Given the description of an element on the screen output the (x, y) to click on. 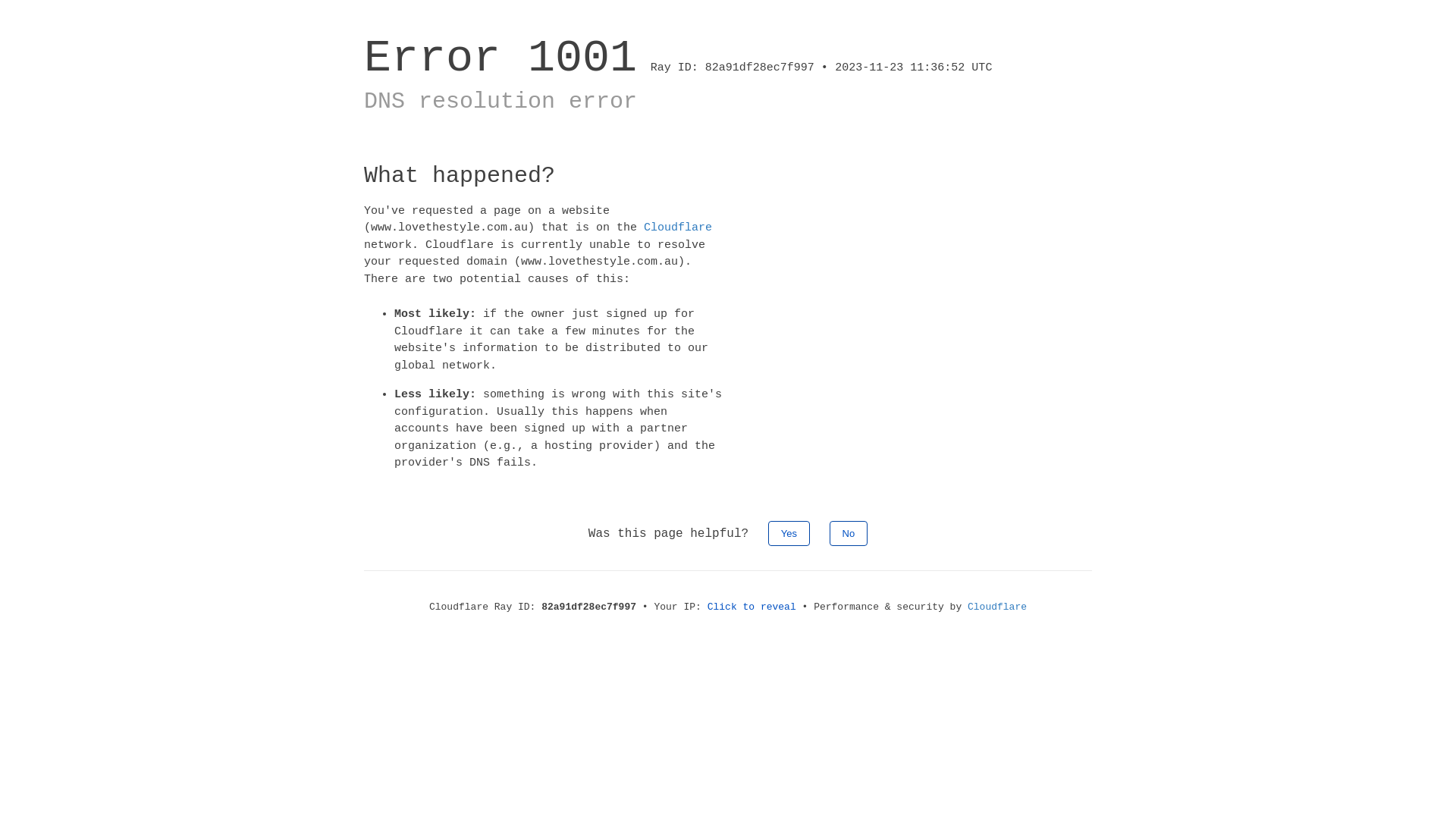
Cloudflare Element type: text (996, 605)
No Element type: text (848, 532)
Click to reveal Element type: text (751, 605)
Cloudflare Element type: text (677, 227)
Yes Element type: text (788, 532)
